Given the description of an element on the screen output the (x, y) to click on. 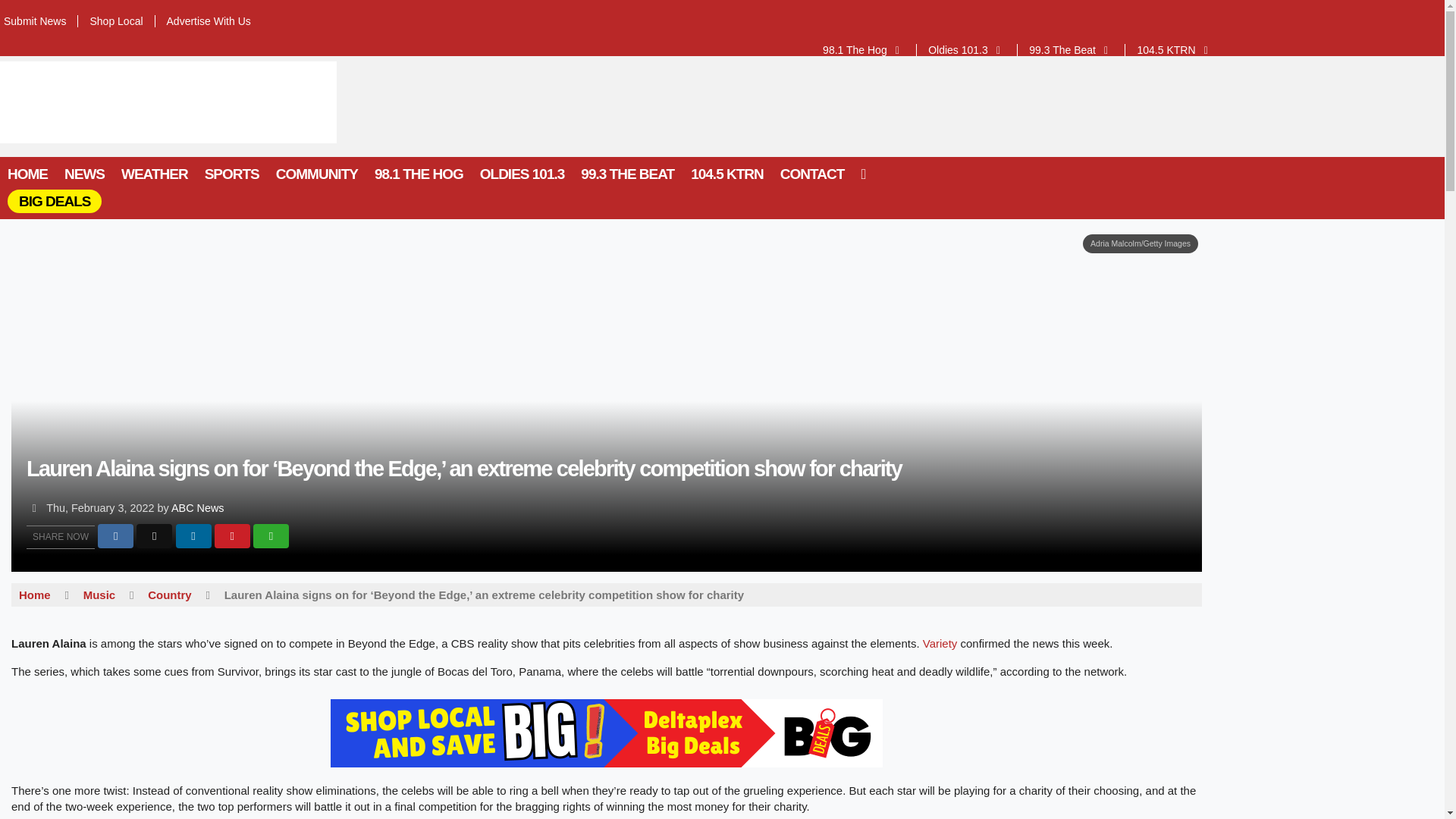
Posts by ABC News (197, 508)
Share to Pinterest (232, 535)
Share to X (153, 535)
Share to LinkedIn (193, 535)
Share to Facebook (115, 535)
